Given the description of an element on the screen output the (x, y) to click on. 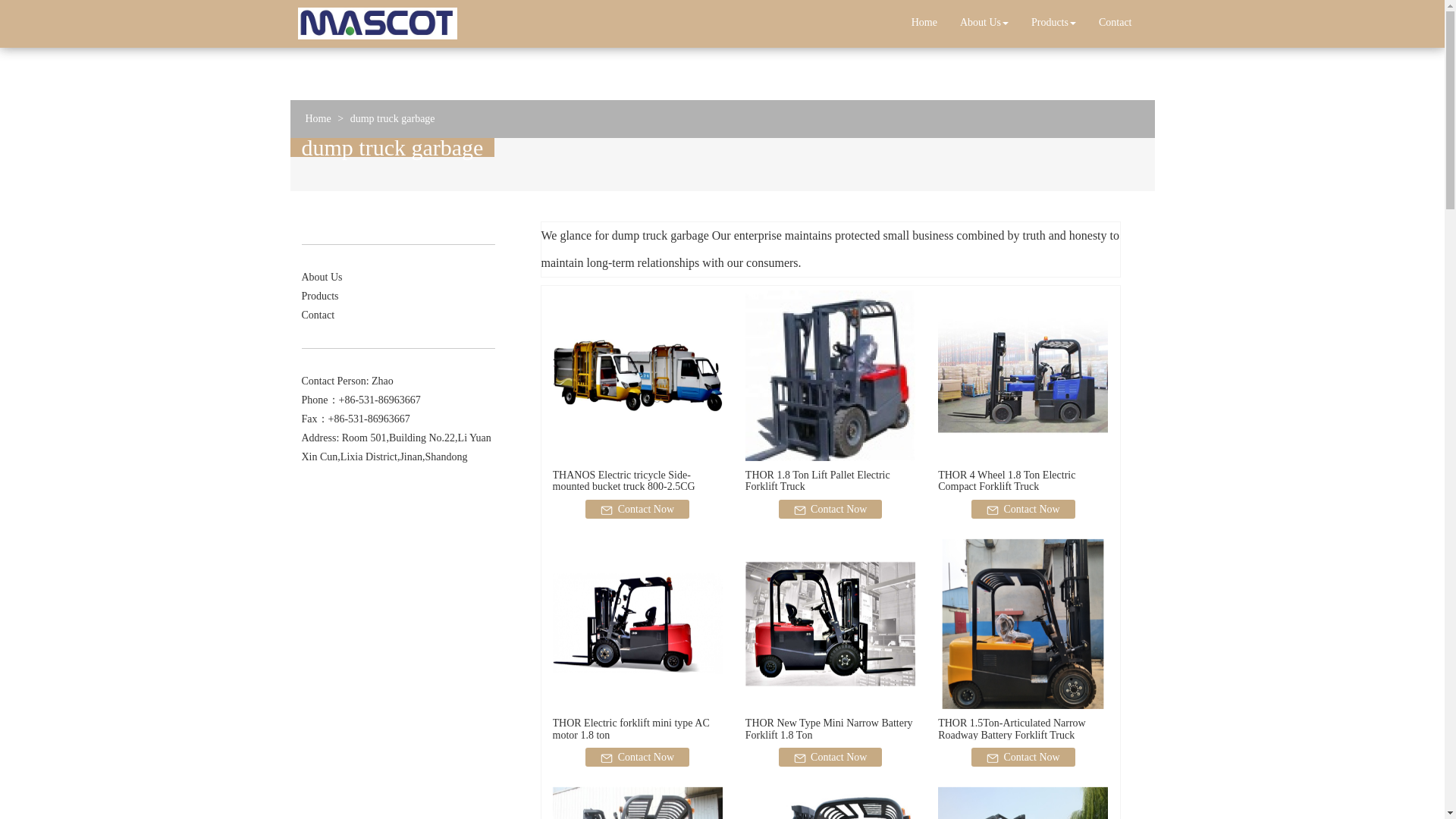
Home (924, 22)
About Us (984, 22)
Contact (1114, 22)
Products (1053, 22)
